Given the description of an element on the screen output the (x, y) to click on. 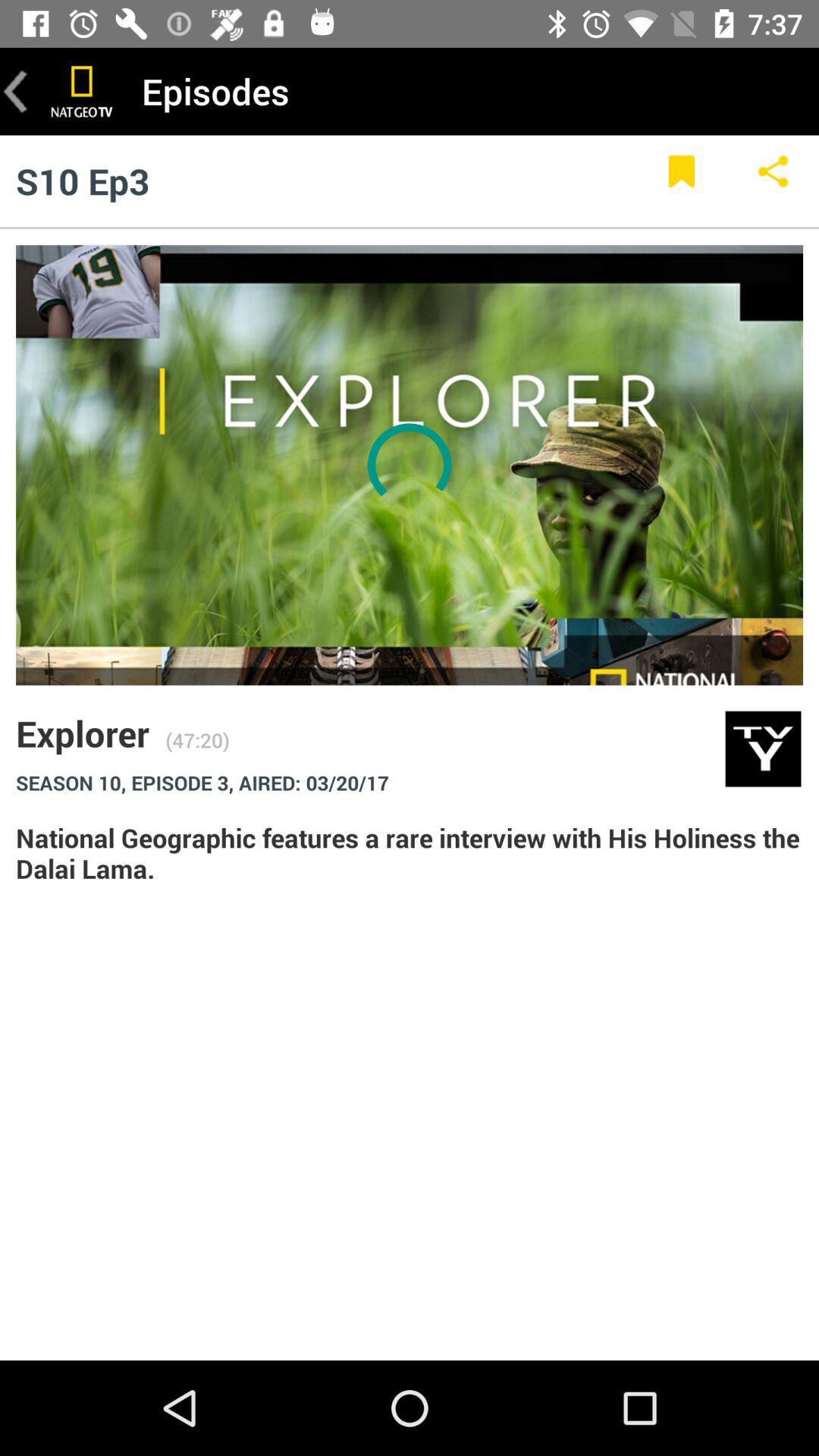
open the icon next to s10 ep3 icon (681, 180)
